Given the description of an element on the screen output the (x, y) to click on. 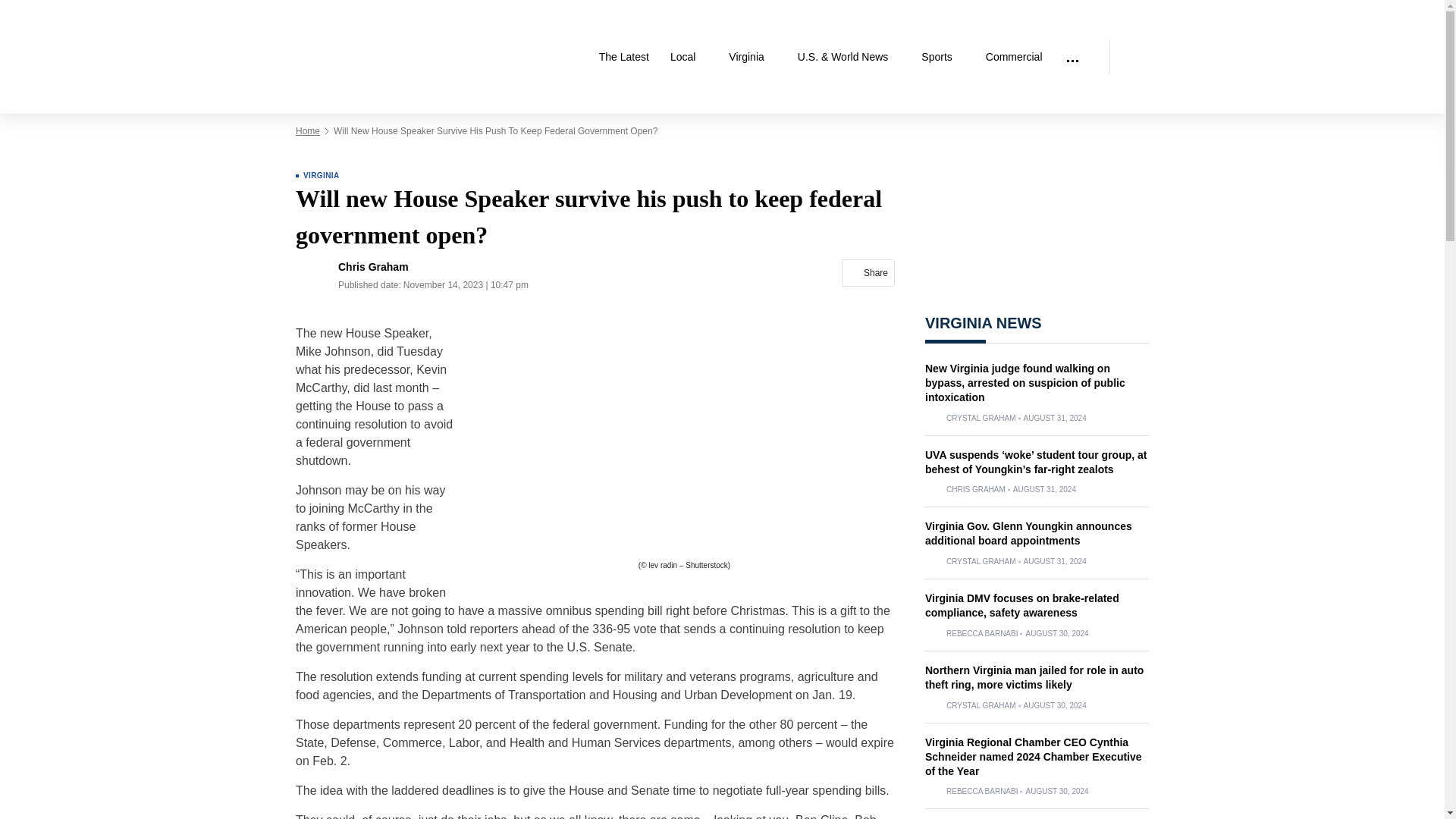
The Latest (623, 57)
Sports (942, 57)
Commercial (1013, 57)
Local (688, 57)
Virginia (751, 57)
